Given the description of an element on the screen output the (x, y) to click on. 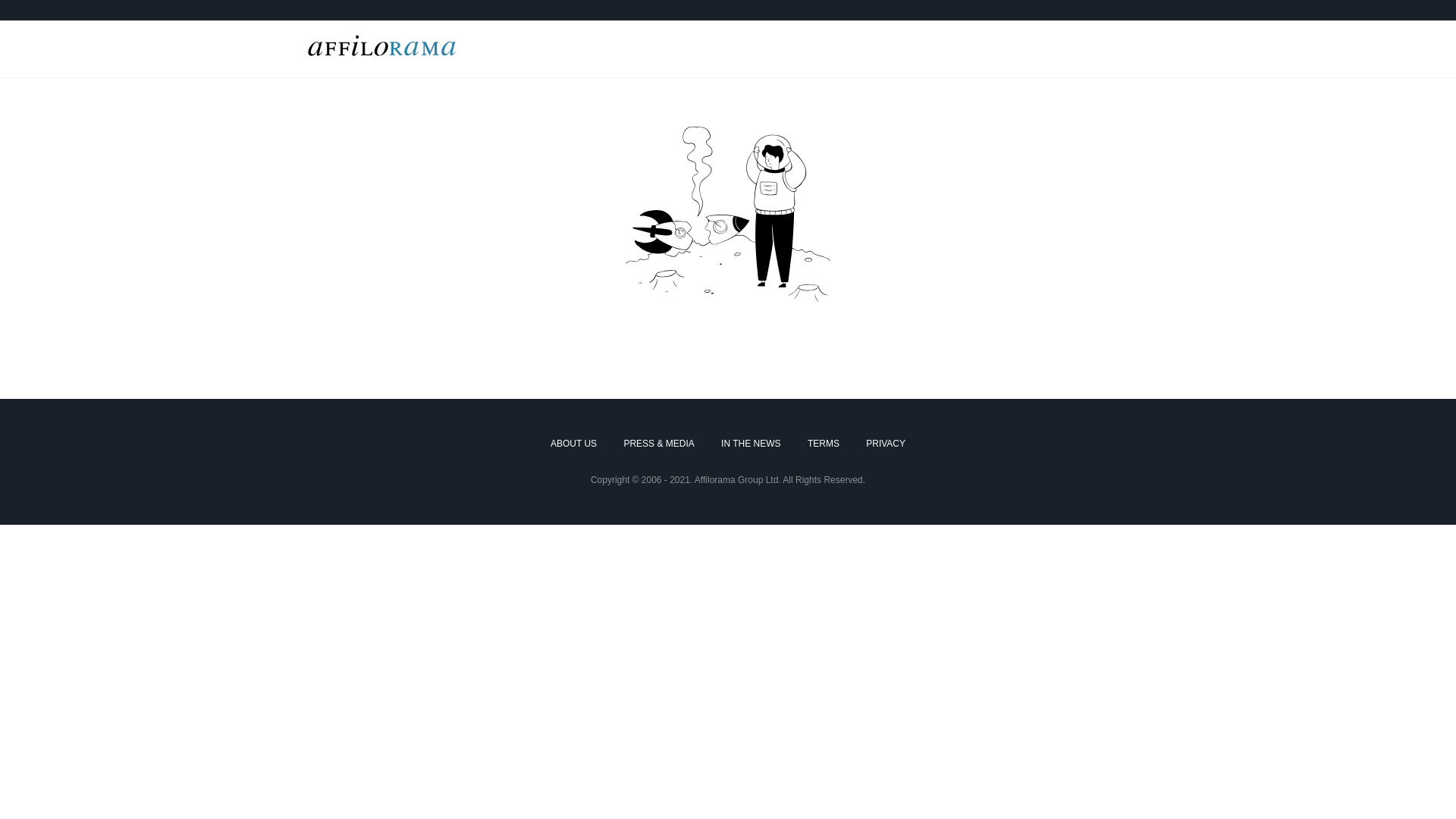
TERMS (824, 444)
IN THE NEWS (750, 444)
PRIVACY (885, 444)
ABOUT US (573, 444)
